Given the description of an element on the screen output the (x, y) to click on. 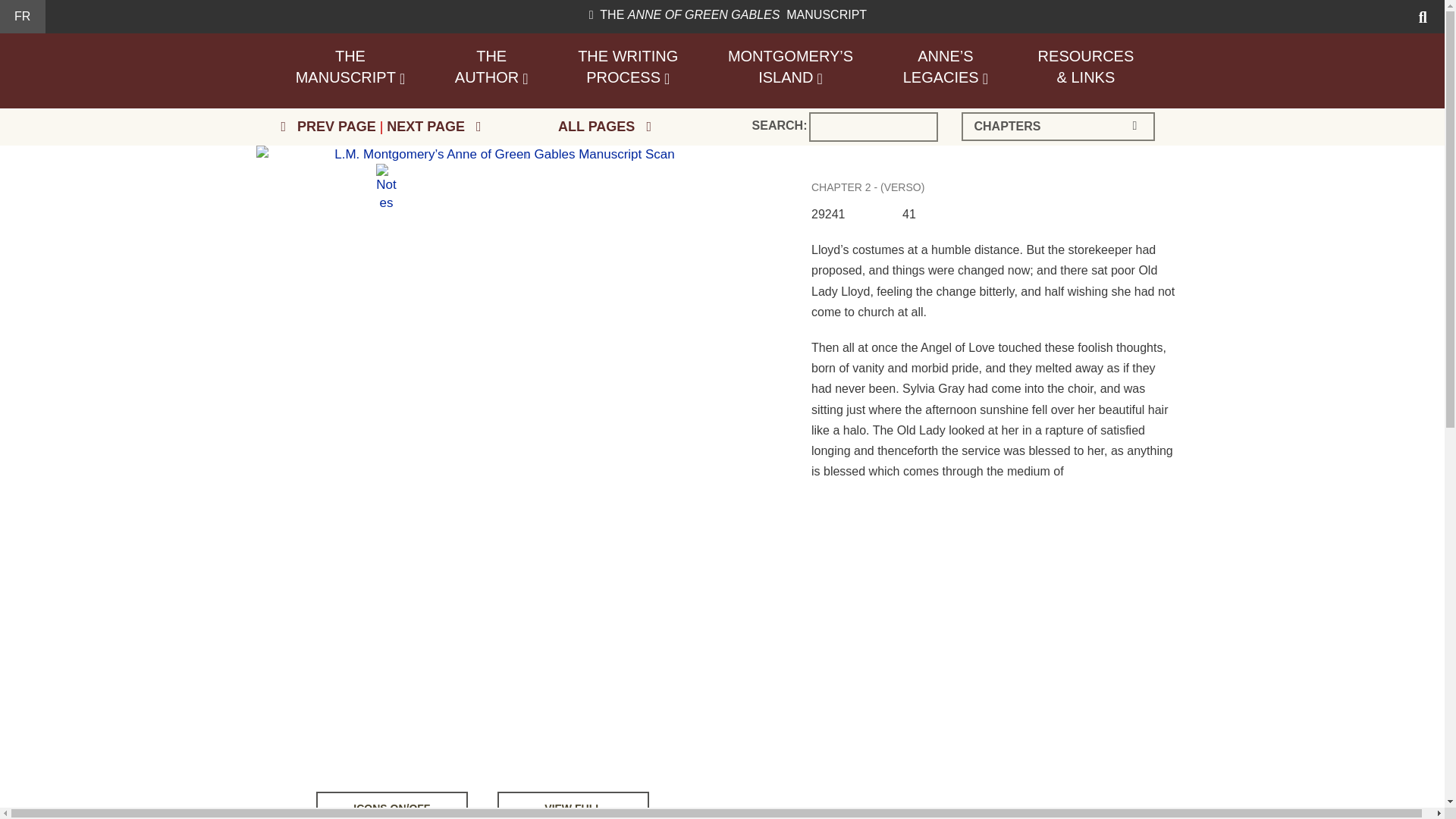
  THE ANNE OF GREEN GABLES  MANUSCRIPT (491, 67)
FR (627, 67)
